Given the description of an element on the screen output the (x, y) to click on. 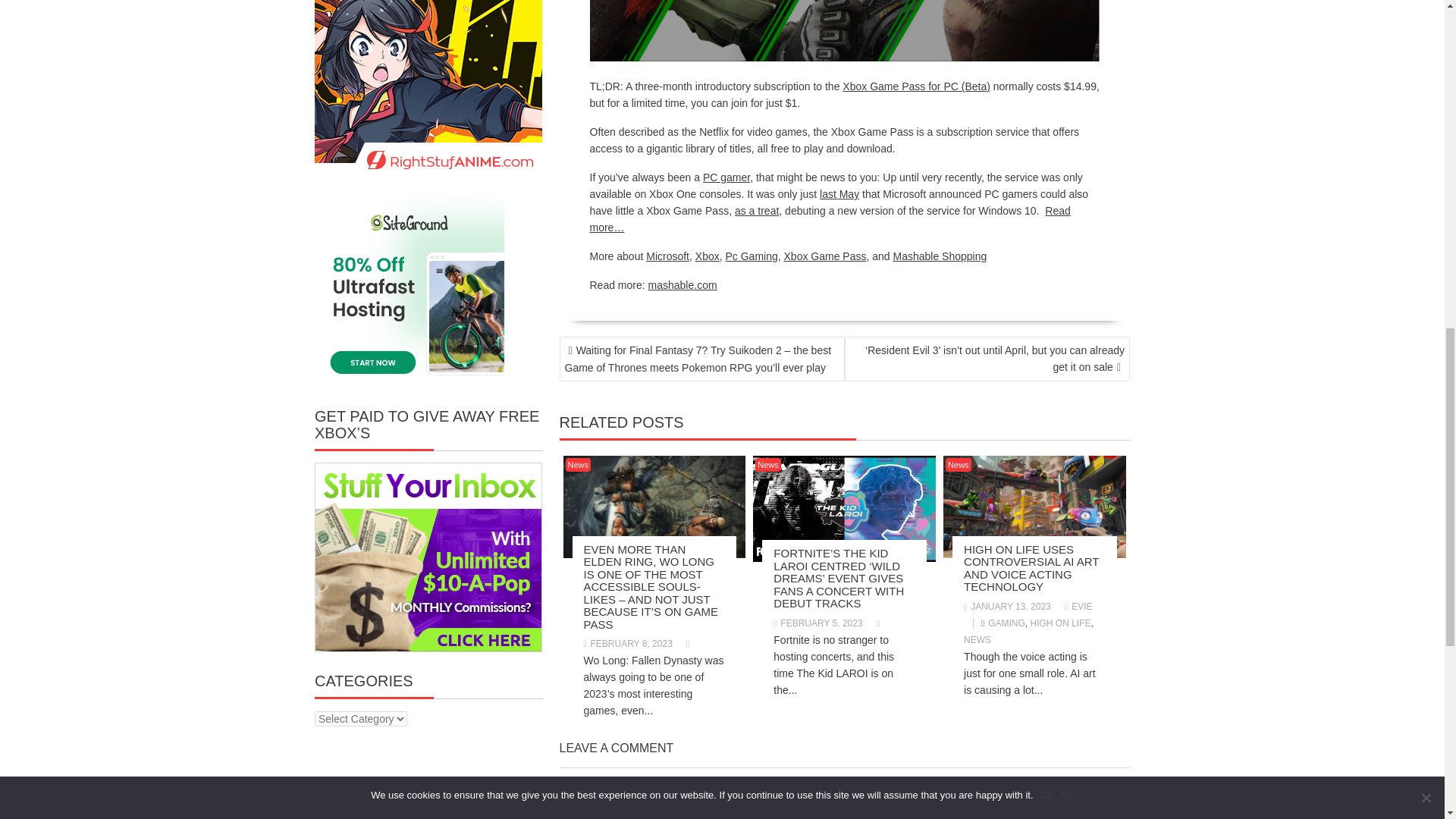
Mashable Shopping (940, 256)
Microsoft (667, 256)
last May (839, 193)
PC gamer (726, 177)
mashable.com (682, 285)
Xbox Game Pass (825, 256)
Pc Gaming (751, 256)
as a treat (756, 210)
Xbox (707, 256)
